Given the description of an element on the screen output the (x, y) to click on. 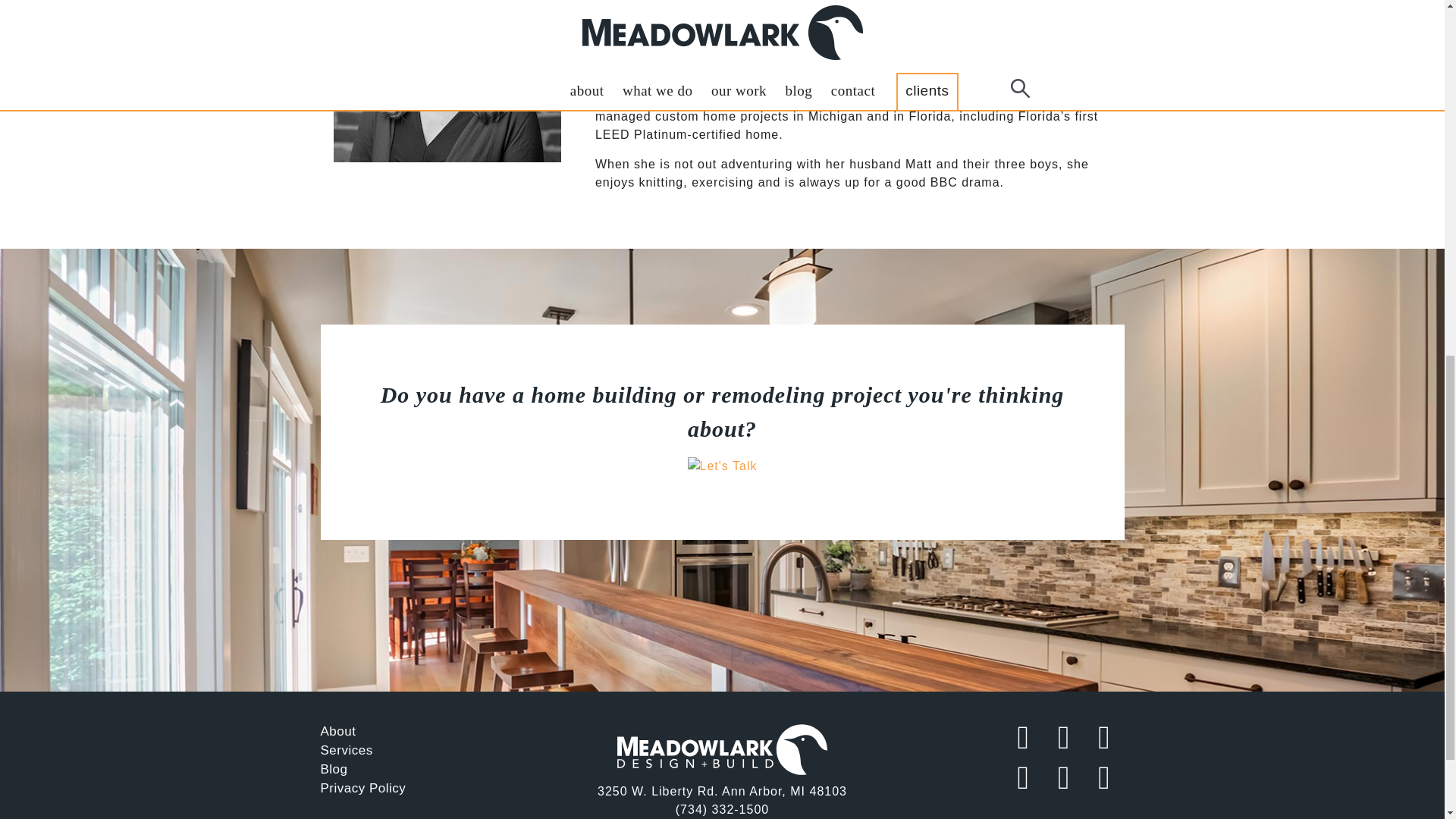
About (337, 730)
Services (346, 749)
Let's Talk (722, 454)
Let's Talk (722, 454)
Privacy Policy (363, 788)
Blog (333, 769)
REBECCA L JULY 2021 RETAKE BW THUMBNAIL (446, 54)
3250 W. Liberty Rd. Ann Arbor, MI 48103 (721, 790)
Let's Talk (721, 412)
